Given the description of an element on the screen output the (x, y) to click on. 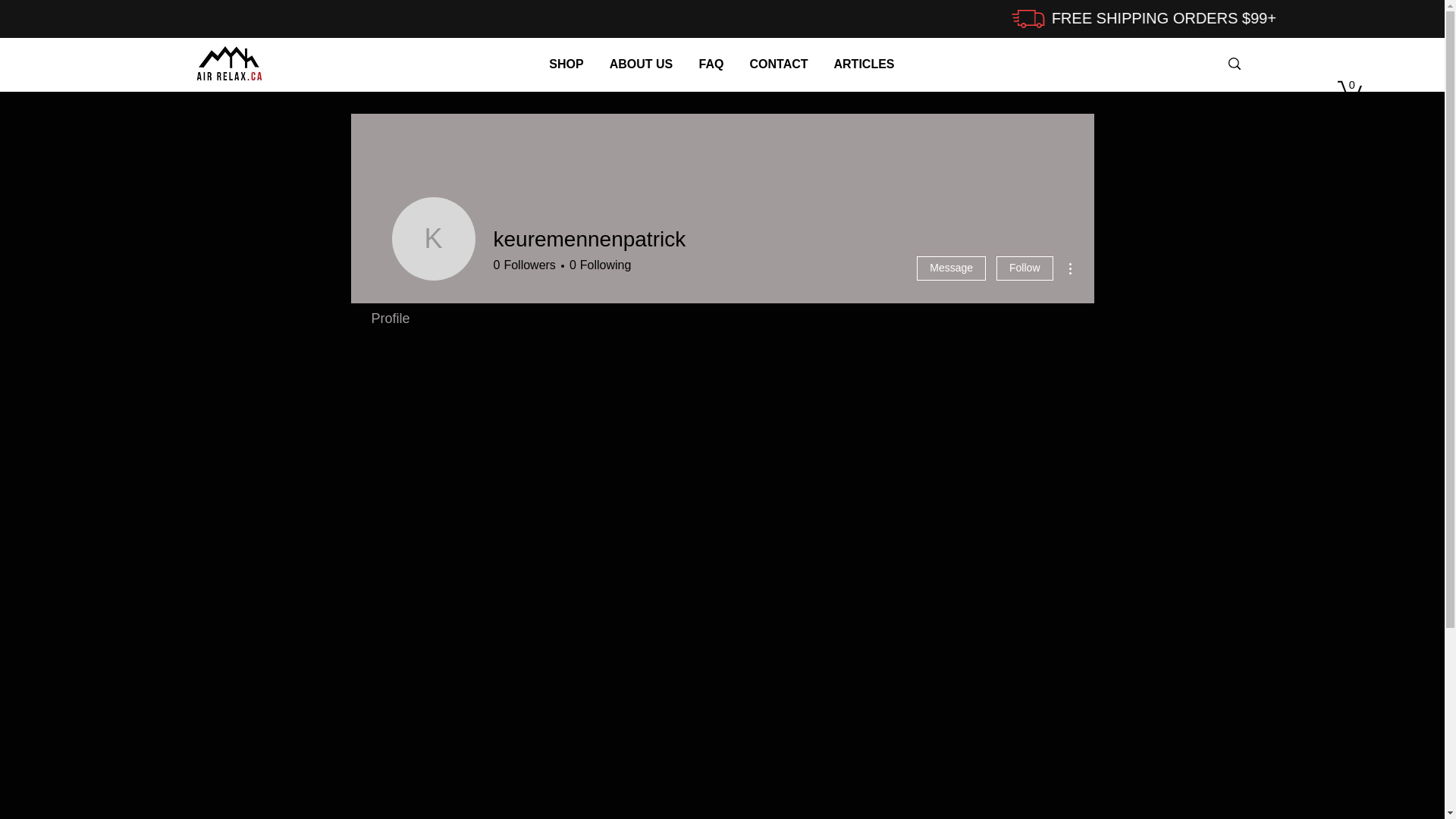
Message Element type: text (950, 268)
0
Followers Element type: text (523, 265)
Follow Element type: text (1024, 268)
0 Element type: text (1349, 88)
CONTACT Element type: text (779, 63)
0
Following Element type: text (597, 265)
FAQ Element type: text (710, 63)
ABOUT US Element type: text (640, 63)
Profile Element type: text (389, 318)
SHOP Element type: text (566, 63)
ARTICLES Element type: text (863, 63)
